Given the description of an element on the screen output the (x, y) to click on. 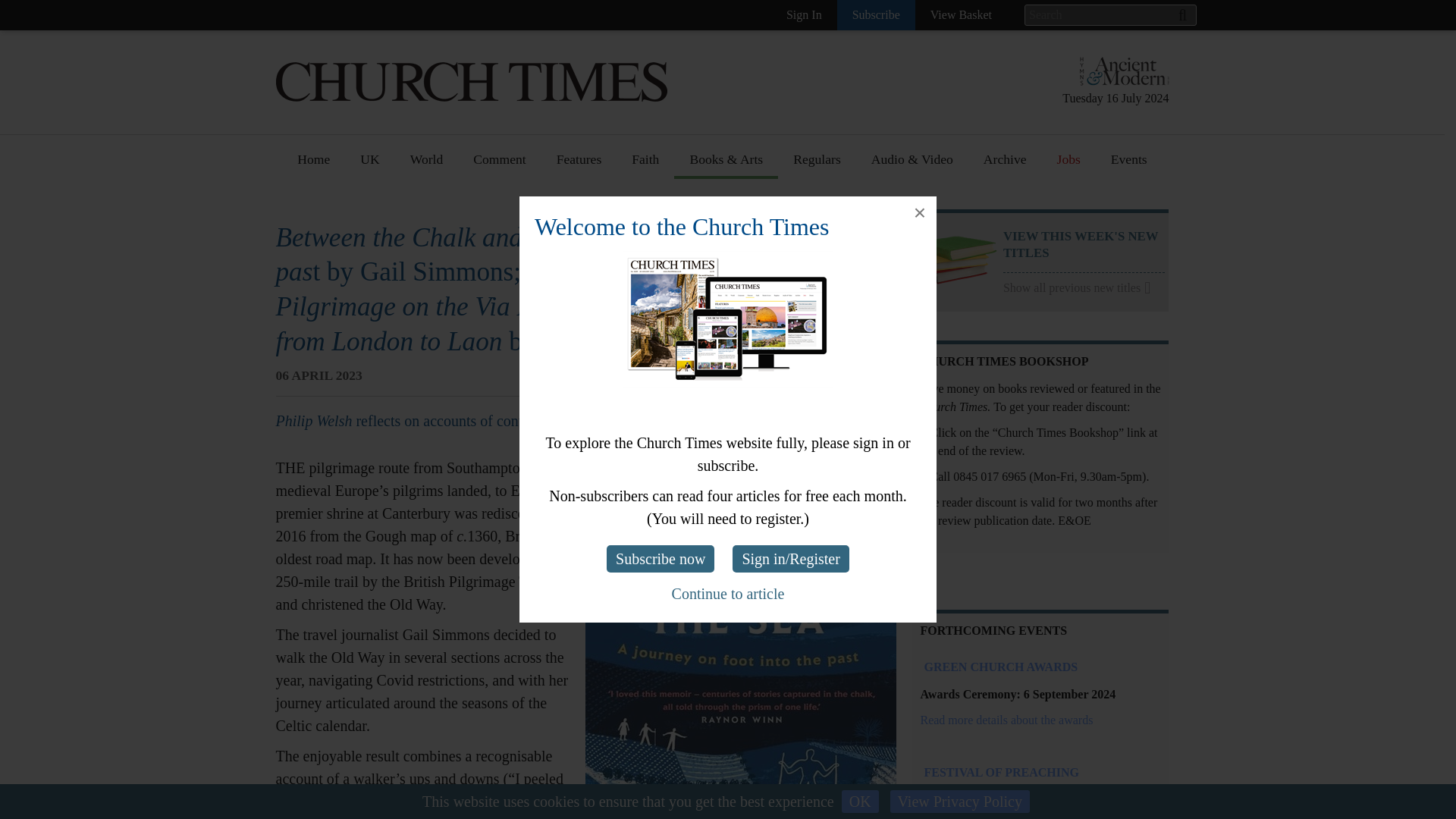
OK (860, 801)
Faith features (668, 232)
Book reviews (726, 204)
Features (580, 204)
UK (369, 164)
Subscribe now (660, 558)
World (426, 164)
Home (313, 164)
Subscribe (876, 15)
Interviews (585, 232)
Radio (705, 428)
Continue to article (727, 593)
Faith (644, 164)
Features (579, 164)
New titles (716, 232)
